Given the description of an element on the screen output the (x, y) to click on. 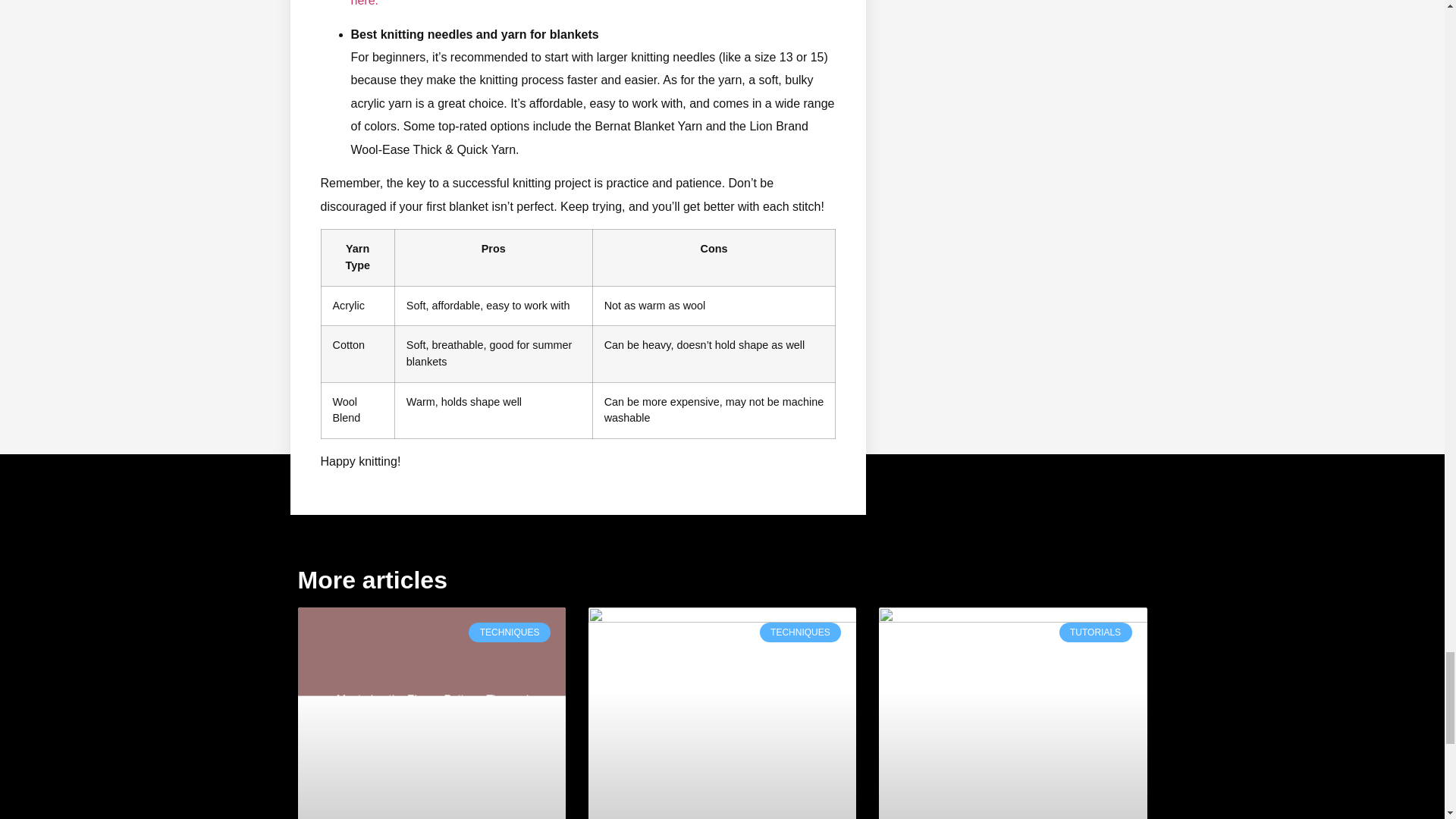
Learn more about yarn types here. (582, 2)
